Given the description of an element on the screen output the (x, y) to click on. 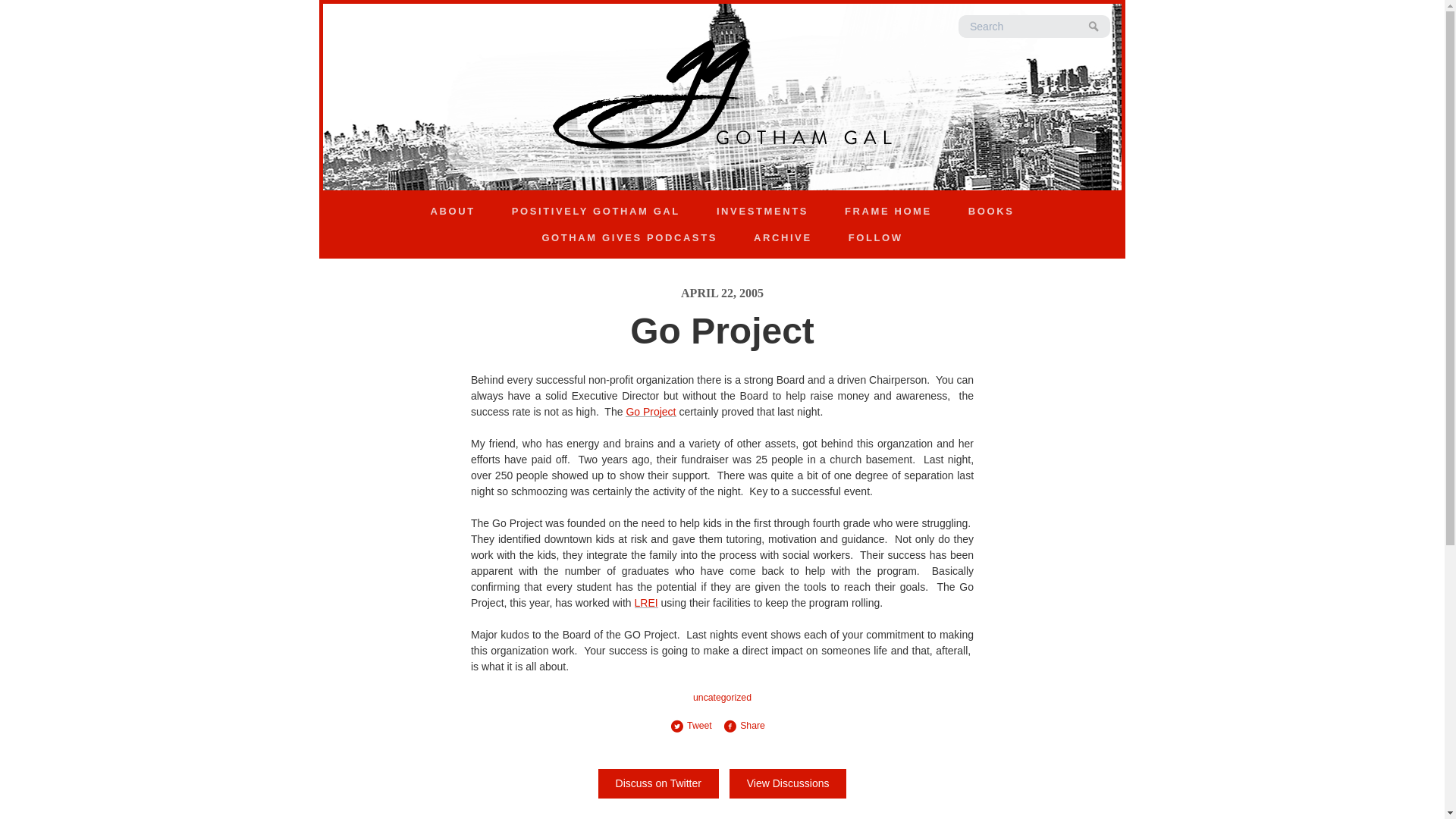
uncategorized (722, 697)
FOLLOW (875, 237)
Go Project (650, 411)
Tweet (696, 725)
INVESTMENTS (762, 210)
About (452, 210)
Submit (1093, 26)
GOTHAM GIVES PODCASTS (628, 237)
Books (990, 210)
BOOKS (990, 210)
